Given the description of an element on the screen output the (x, y) to click on. 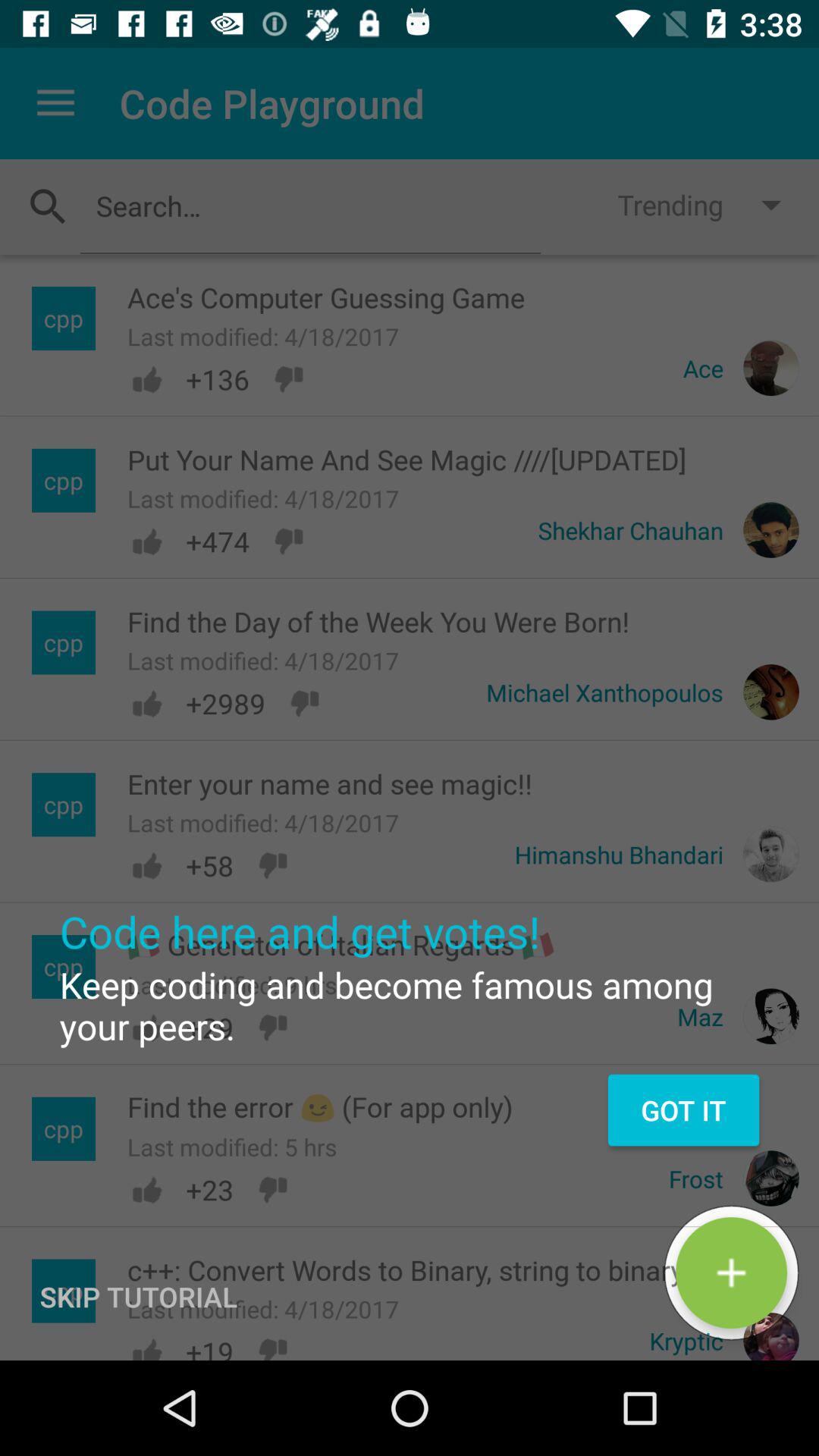
press item to the right of last modified 4 (731, 1272)
